Given the description of an element on the screen output the (x, y) to click on. 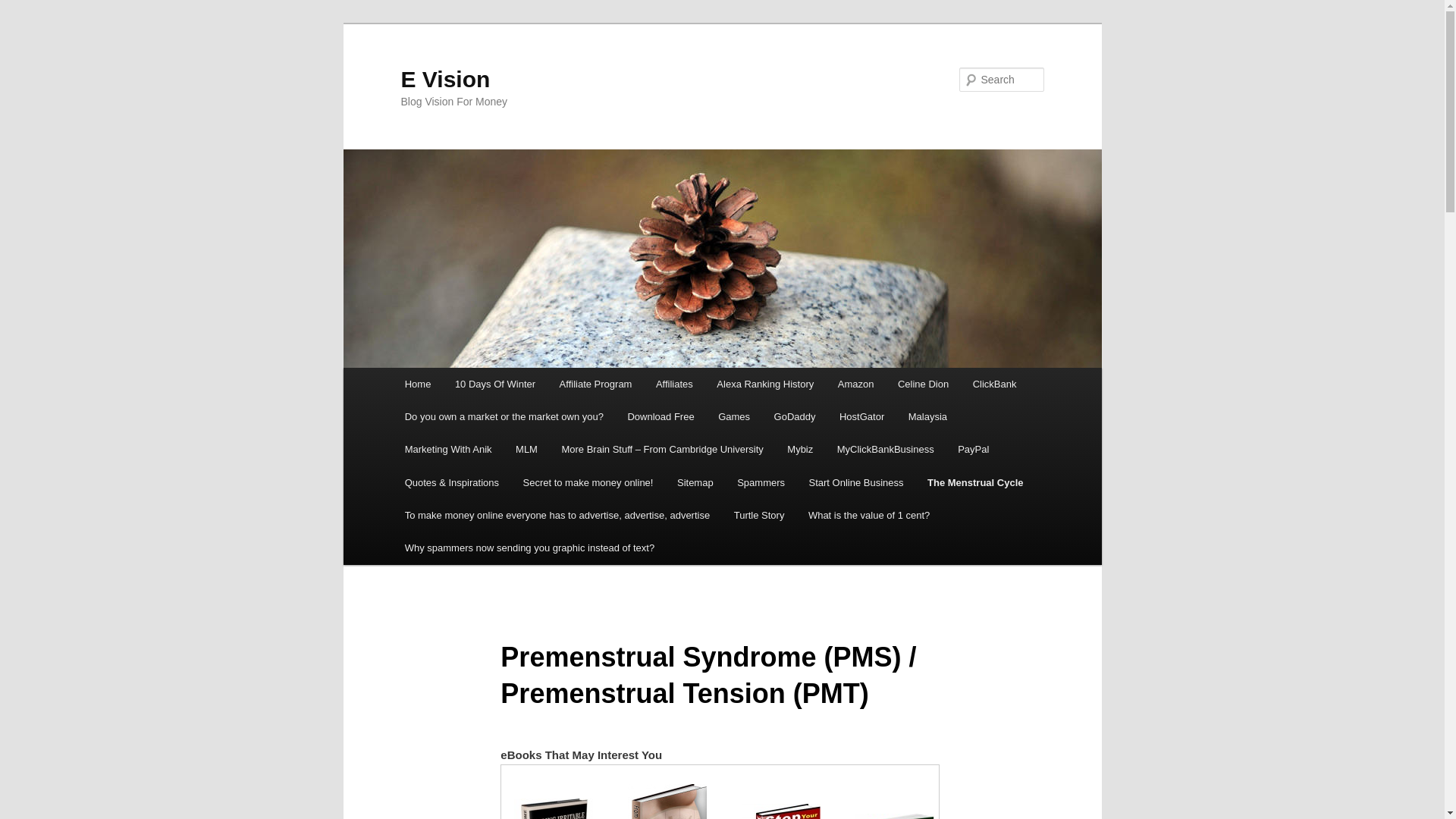
10 Days Of Winter (494, 383)
Games (733, 416)
E Vision (444, 78)
Home (417, 383)
Alexa Ranking History (764, 383)
ClickBank (993, 383)
Amazon (855, 383)
Celine Dion (922, 383)
Search (24, 8)
